Given the description of an element on the screen output the (x, y) to click on. 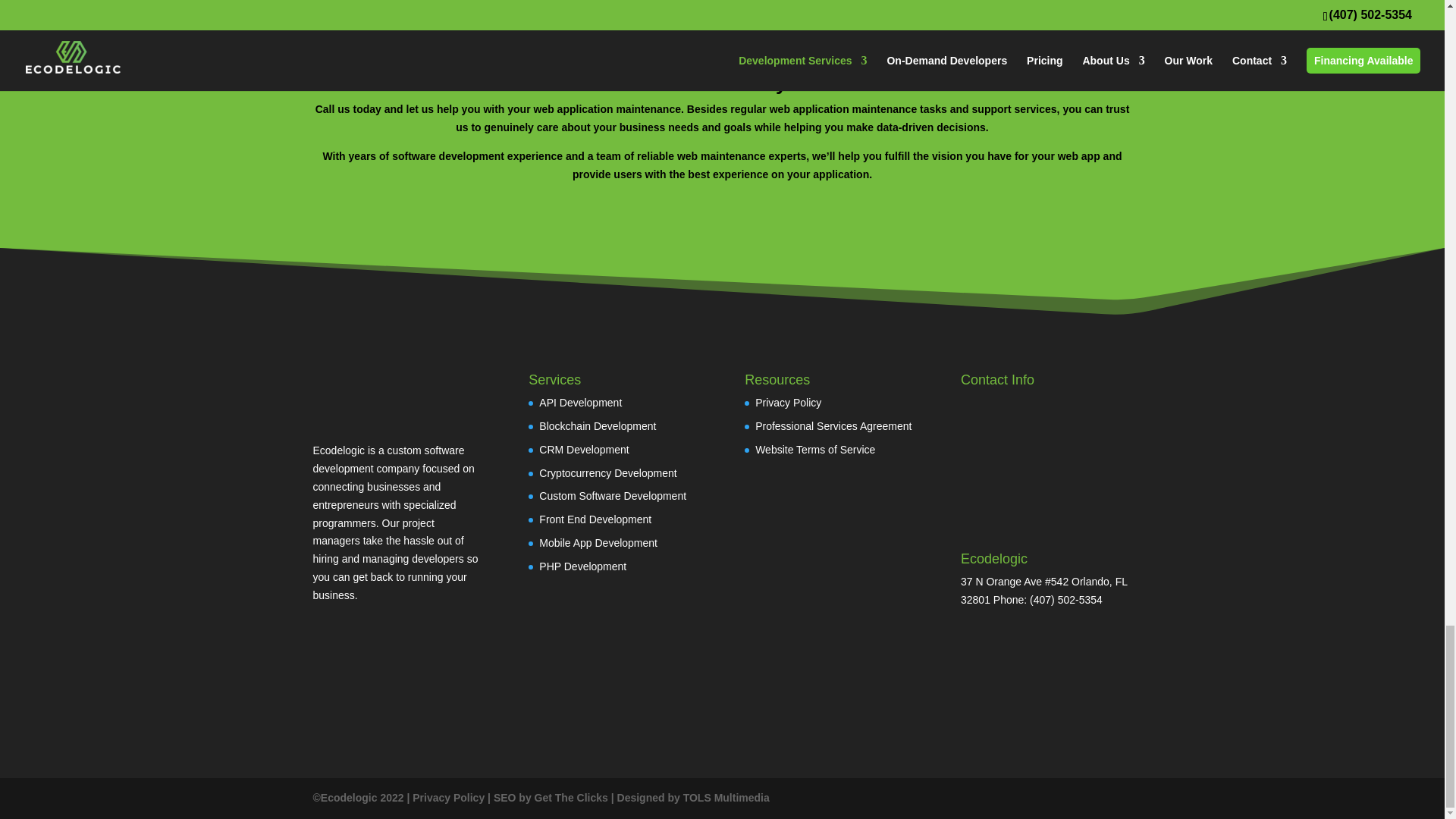
CRM Development (583, 449)
Blockchain Development (597, 426)
API Development (579, 402)
Cryptocurrency Development (607, 472)
Custom Software Development (611, 495)
